Given the description of an element on the screen output the (x, y) to click on. 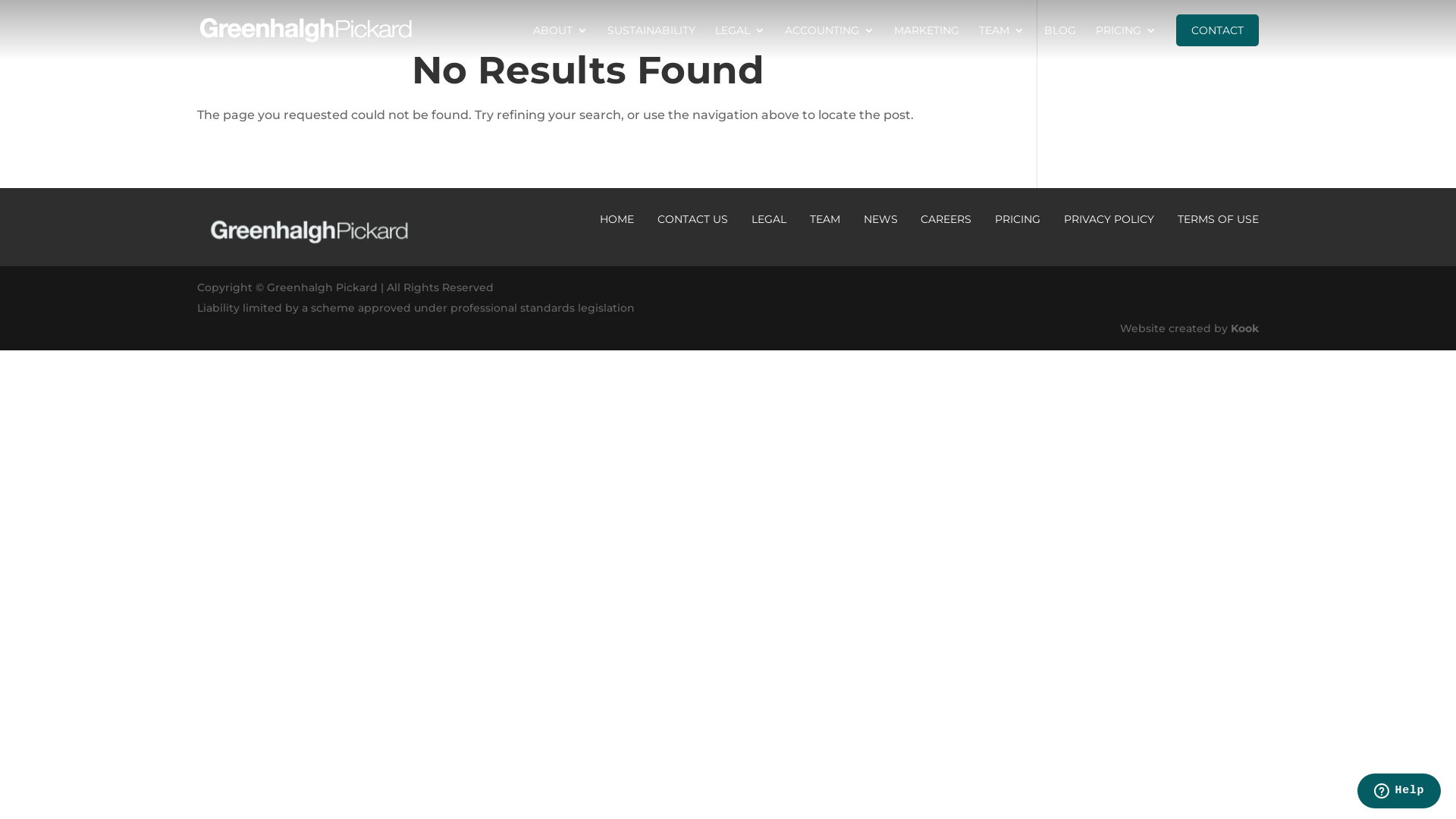
BLOG Element type: text (1060, 42)
CONTACT Element type: text (1217, 30)
HOME Element type: text (616, 218)
LEGAL Element type: text (740, 42)
ACCOUNTING Element type: text (829, 42)
Kook Element type: text (1244, 328)
TEAM Element type: text (824, 218)
CAREERS Element type: text (945, 218)
TEAM Element type: text (1001, 42)
SUSTAINABILITY Element type: text (651, 42)
CONTACT US Element type: text (692, 218)
PRICING Element type: text (1125, 42)
NEWS Element type: text (879, 218)
ABOUT Element type: text (560, 42)
PRIVACY POLICY Element type: text (1108, 218)
MARKETING Element type: text (926, 42)
TERMS OF USE Element type: text (1217, 218)
Opens a widget where you can chat to one of our agents Element type: hover (1398, 792)
LEGAL Element type: text (768, 218)
PRICING Element type: text (1017, 218)
